Given the description of an element on the screen output the (x, y) to click on. 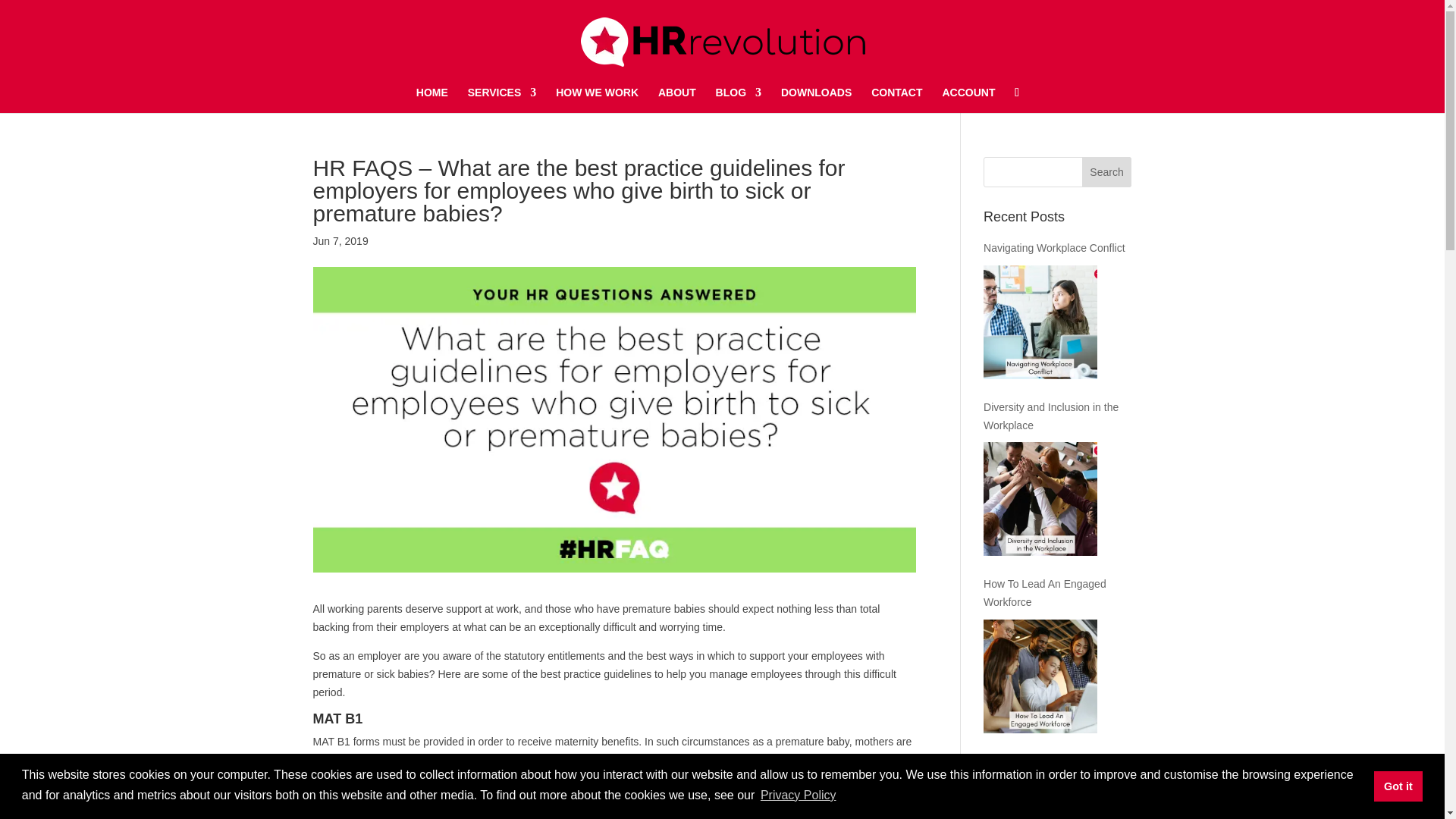
SERVICES (502, 99)
Search (1106, 172)
Navigating Workplace Conflict (1057, 248)
Navigating Workplace Conflict (1040, 322)
Understanding Employee Benefits: A Must-Read for Employers (1040, 807)
HOME (432, 99)
HOW WE WORK (597, 99)
Diversity and Inclusion in the Workplace (1040, 499)
ACCOUNT (968, 99)
How To Lead An Engaged Workforce (1040, 676)
CONTACT (895, 99)
ABOUT (676, 99)
Search (1106, 172)
BLOG (738, 99)
DOWNLOADS (815, 99)
